Given the description of an element on the screen output the (x, y) to click on. 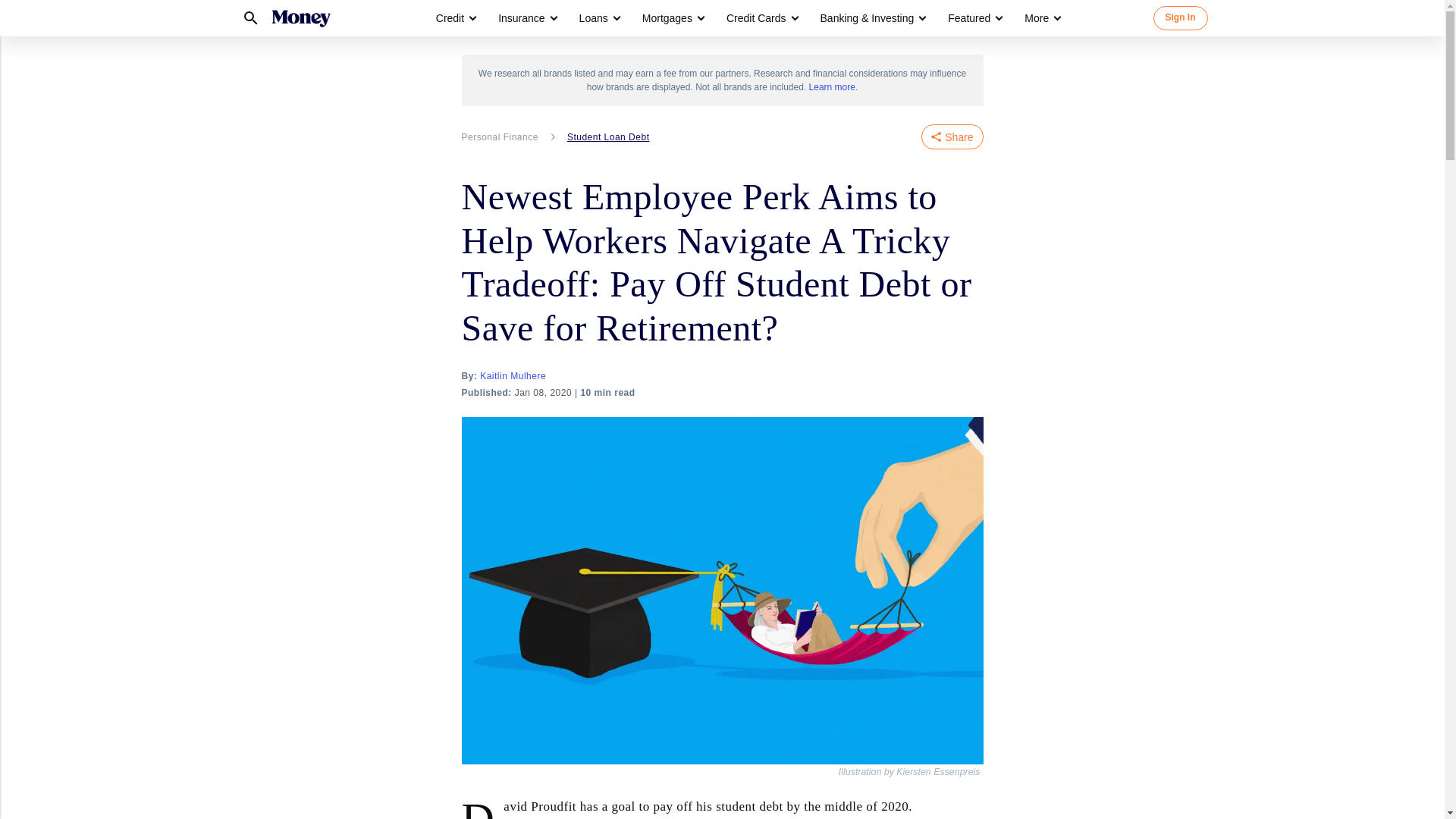
Loans (593, 18)
Credit (449, 18)
Insurance (526, 18)
Credit Cards (756, 18)
Insurance (520, 18)
Credit (455, 18)
Mortgages (672, 18)
Mortgages (667, 18)
Credit Cards (761, 18)
Loans (598, 18)
